Given the description of an element on the screen output the (x, y) to click on. 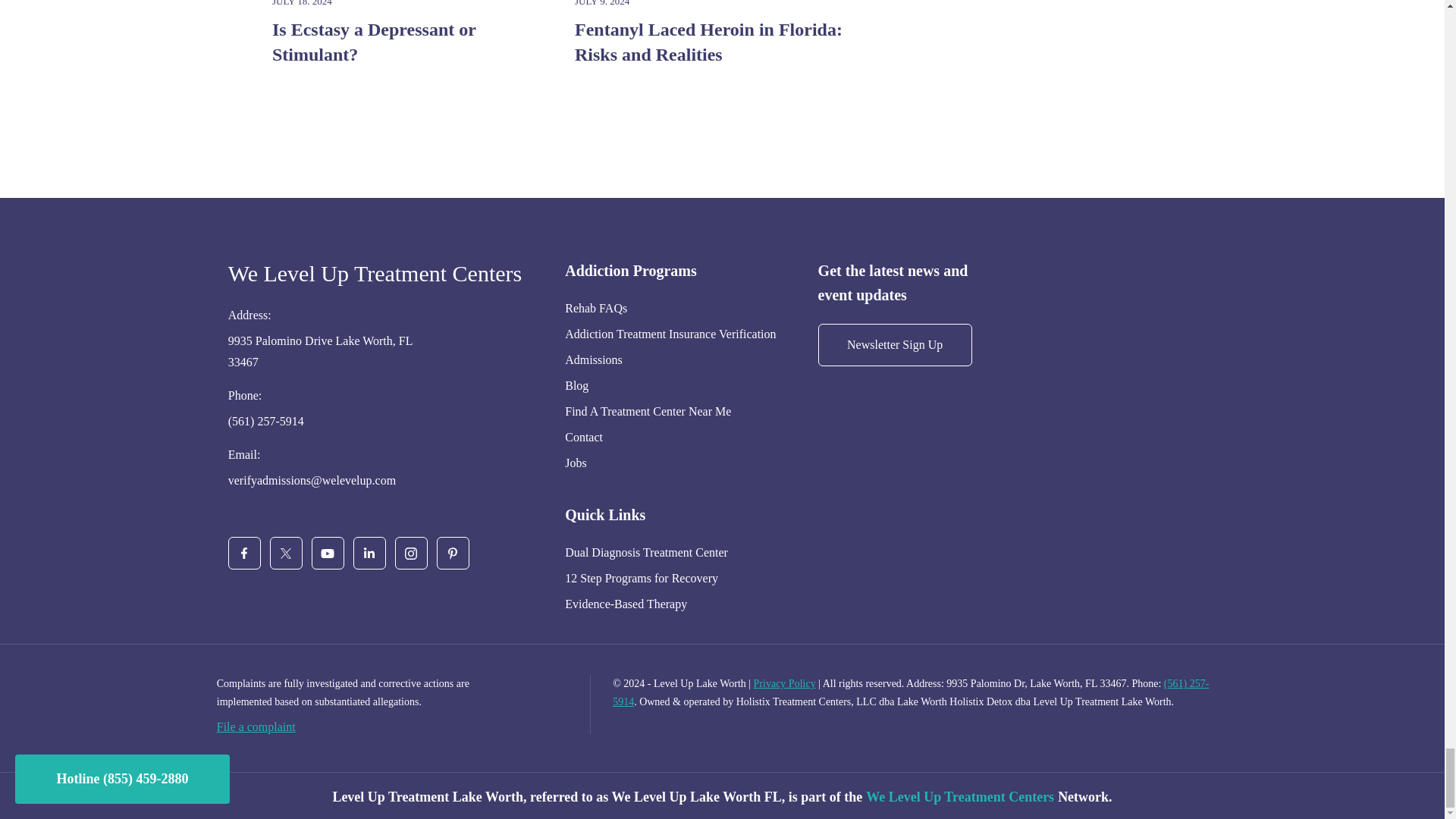
We Level Up Treatment Center Privacy Policy (784, 683)
